Given the description of an element on the screen output the (x, y) to click on. 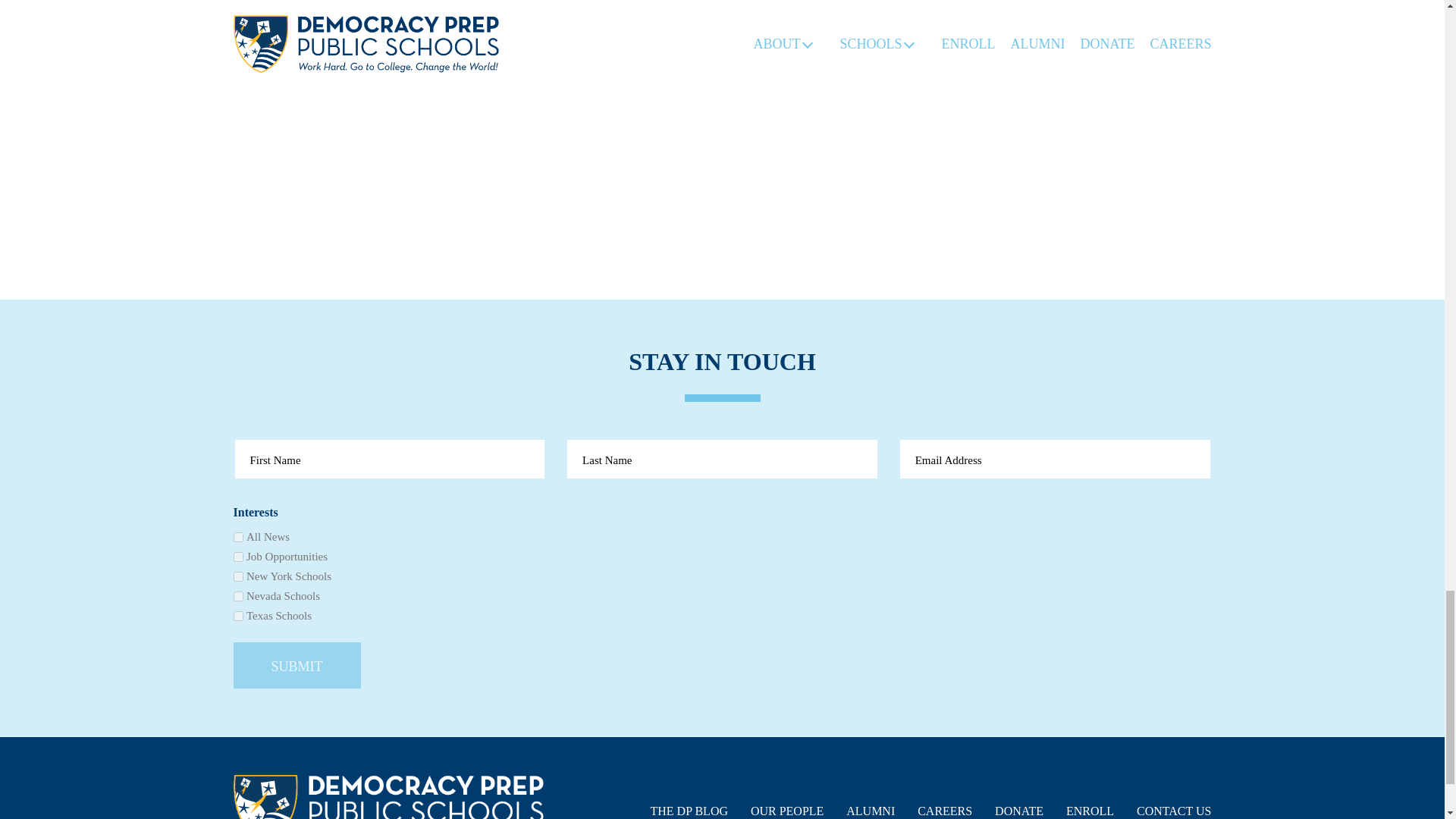
Job Opportunities (237, 556)
THE DP BLOG (688, 811)
DONATE (1018, 811)
CONTACT US (1174, 811)
CAREERS (944, 811)
New York Schools (237, 576)
Submit (296, 665)
Submit (296, 665)
Nevada Schools (237, 596)
Texas Schools (237, 615)
